Given the description of an element on the screen output the (x, y) to click on. 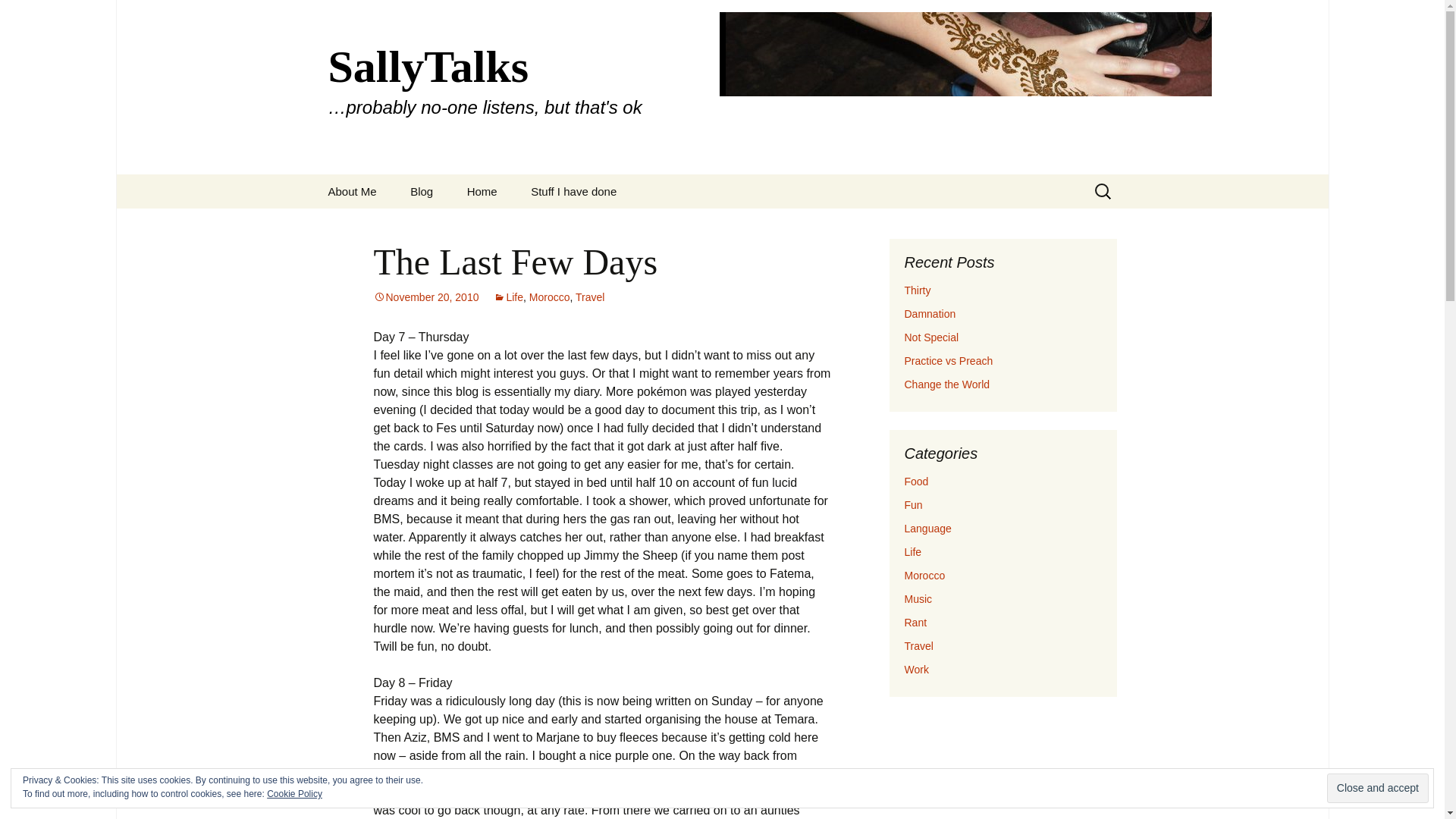
Travel (918, 645)
Home (481, 191)
Close and accept (1377, 788)
Morocco (924, 575)
November 20, 2010 (425, 297)
Blog (421, 191)
Change the World (947, 384)
Search (18, 15)
Cookie Policy (293, 793)
